Given the description of an element on the screen output the (x, y) to click on. 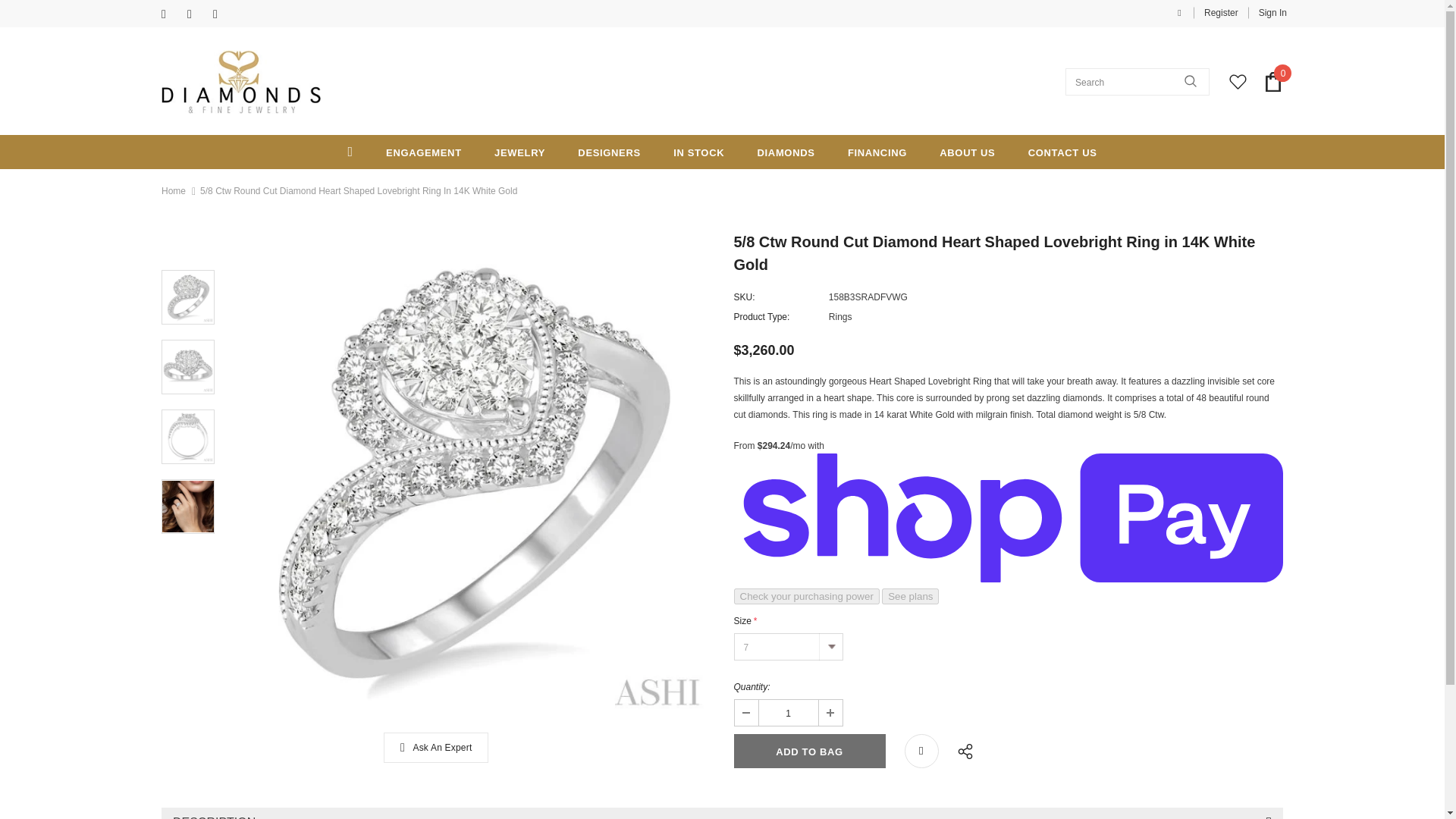
Instagram (221, 14)
Add to Bag (809, 750)
1 (787, 712)
Sign In (1267, 12)
Facebook (170, 14)
Register (1221, 12)
Twitter (196, 14)
